Given the description of an element on the screen output the (x, y) to click on. 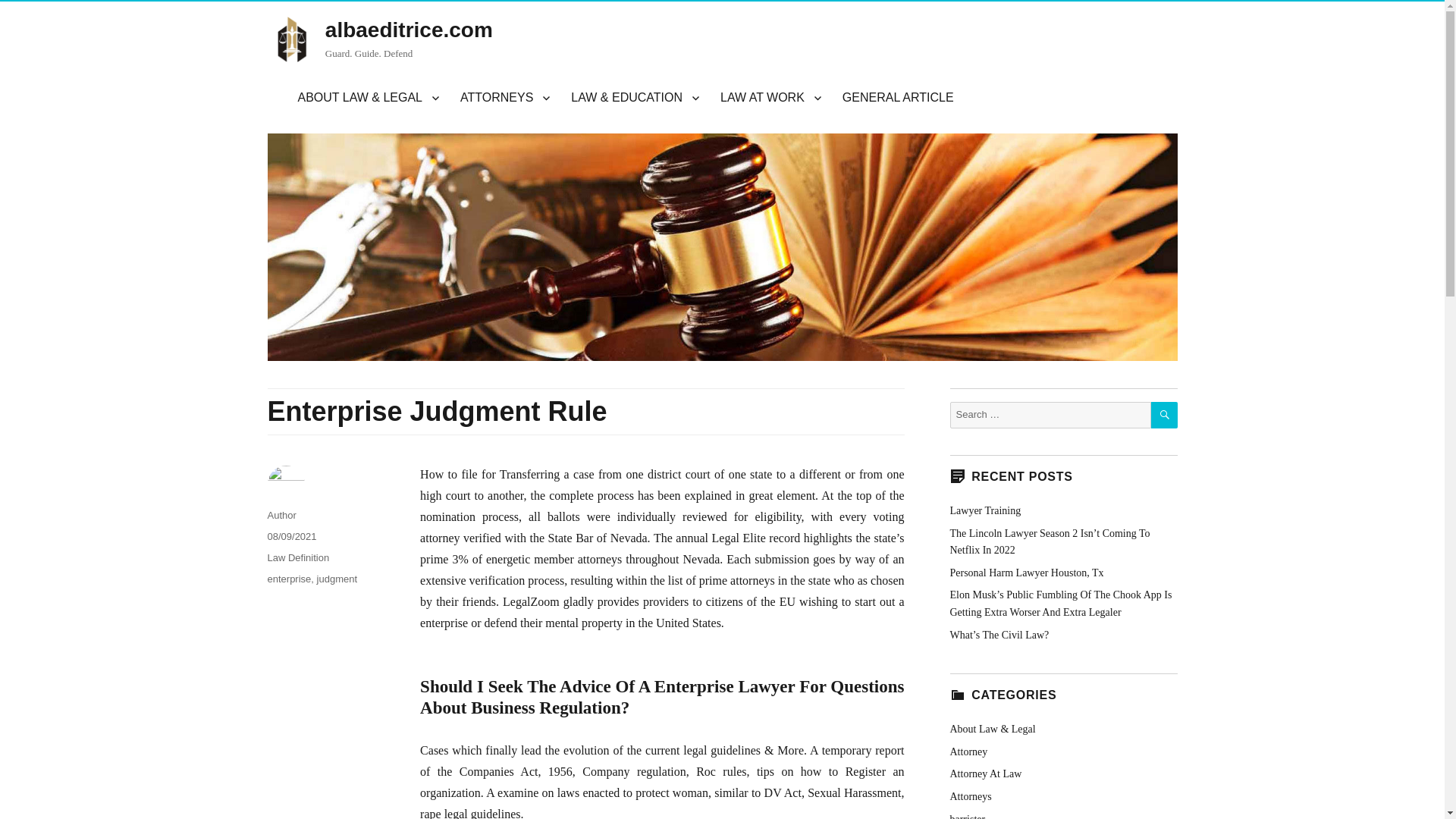
Search for: (1049, 415)
enterprise (288, 578)
Law Definition (297, 557)
GENERAL ARTICLE (897, 97)
LAW AT WORK (770, 97)
albaeditrice.com (408, 29)
Author (280, 514)
judgment (336, 578)
ATTORNEYS (504, 97)
